Given the description of an element on the screen output the (x, y) to click on. 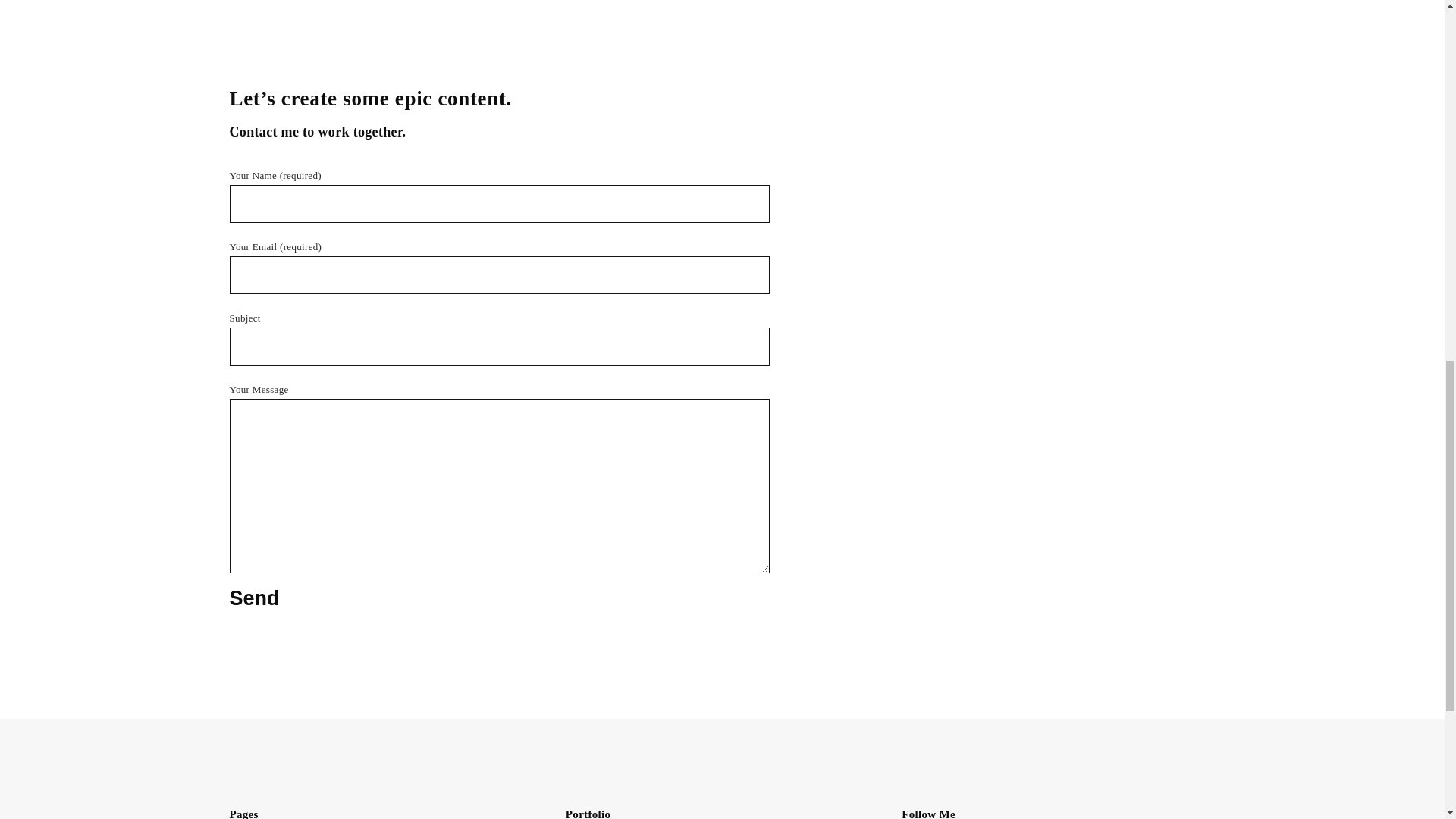
Send (253, 598)
Send (253, 598)
